Given the description of an element on the screen output the (x, y) to click on. 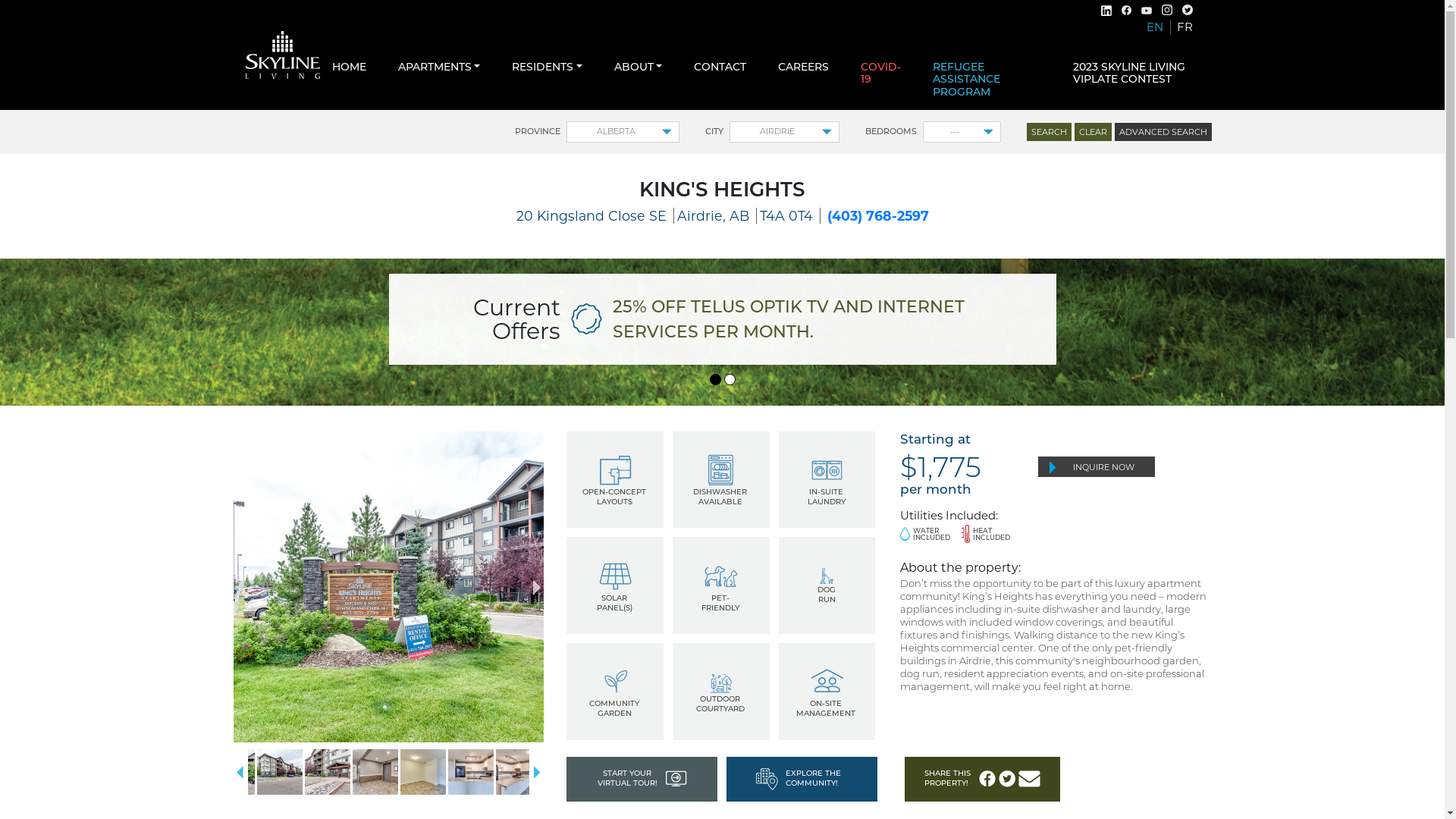
FR Element type: text (1184, 26)
START YOUR
VIRTUAL TOUR! Element type: text (641, 778)
SHARE THIS PROPERTY! Element type: text (982, 778)
ABOUT Element type: text (638, 66)
2023 SKYLINE LIVING VIPLATE CONTEST Element type: text (1136, 73)
CAREERS Element type: text (803, 66)
CLEAR Element type: text (1091, 131)
EN Element type: text (1158, 26)
Next Element type: text (536, 771)
Next Element type: text (536, 586)
SEARCH Element type: text (1048, 131)
CONTACT Element type: text (719, 66)
Previous Element type: text (239, 586)
RESIDENTS Element type: text (546, 66)
APARTMENTS Element type: text (438, 66)
HOME Element type: text (349, 66)
EXPLORE THE
COMMUNITY! Element type: text (801, 778)
ADVANCED SEARCH Element type: text (1162, 131)
Previous Element type: text (239, 771)
INQUIRE NOW Element type: text (1096, 466)
(403) 768-2597 Element type: text (877, 215)
REFUGEE ASSISTANCE PROGRAM Element type: text (986, 79)
COVID-19 Element type: text (880, 73)
